Given the description of an element on the screen output the (x, y) to click on. 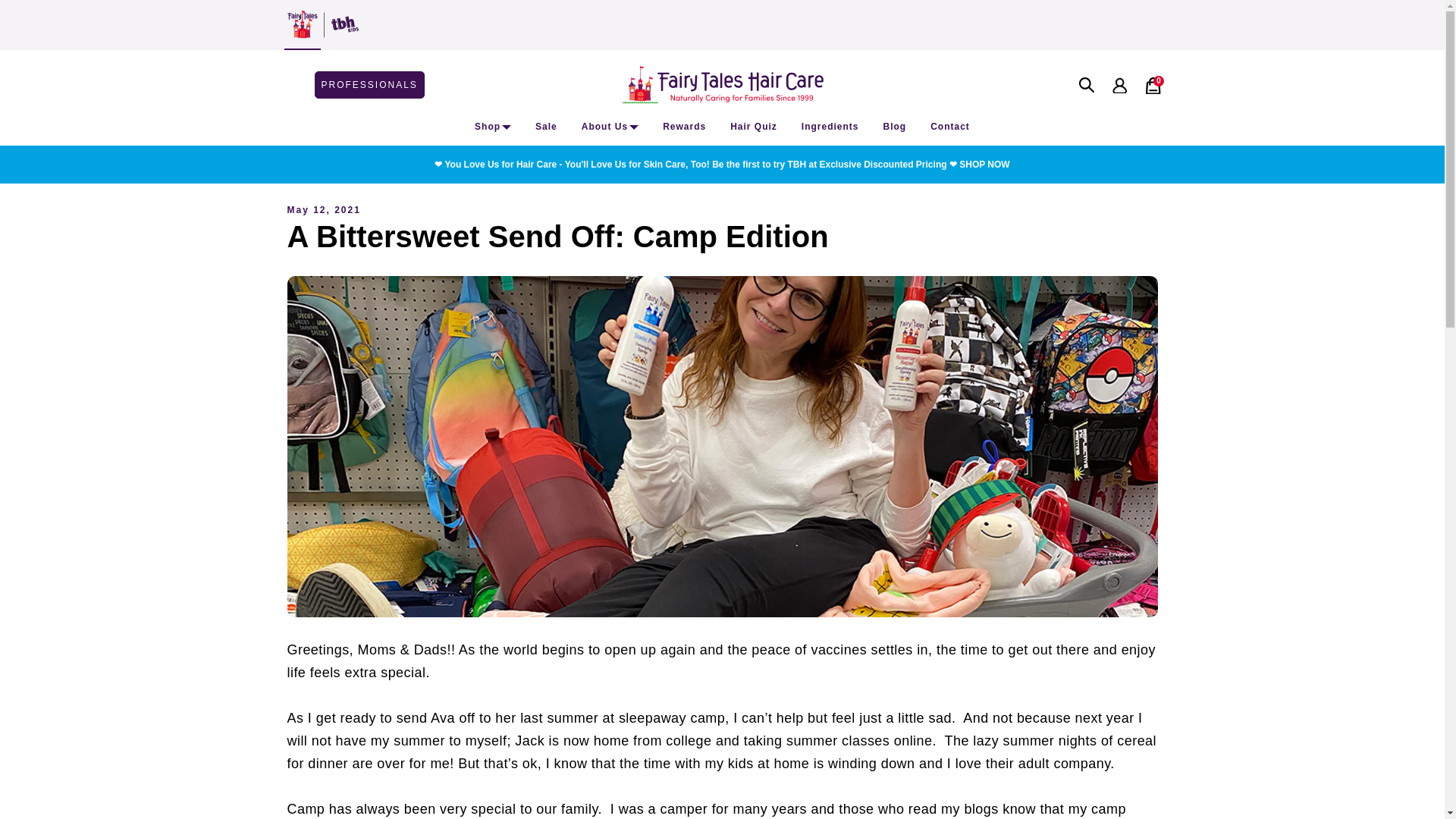
Hair Quiz (753, 126)
Ingredients (830, 126)
Sale (546, 126)
Rewards (684, 126)
Contact (949, 126)
PROFESSIONALS (368, 84)
Blog (895, 126)
